Given the description of an element on the screen output the (x, y) to click on. 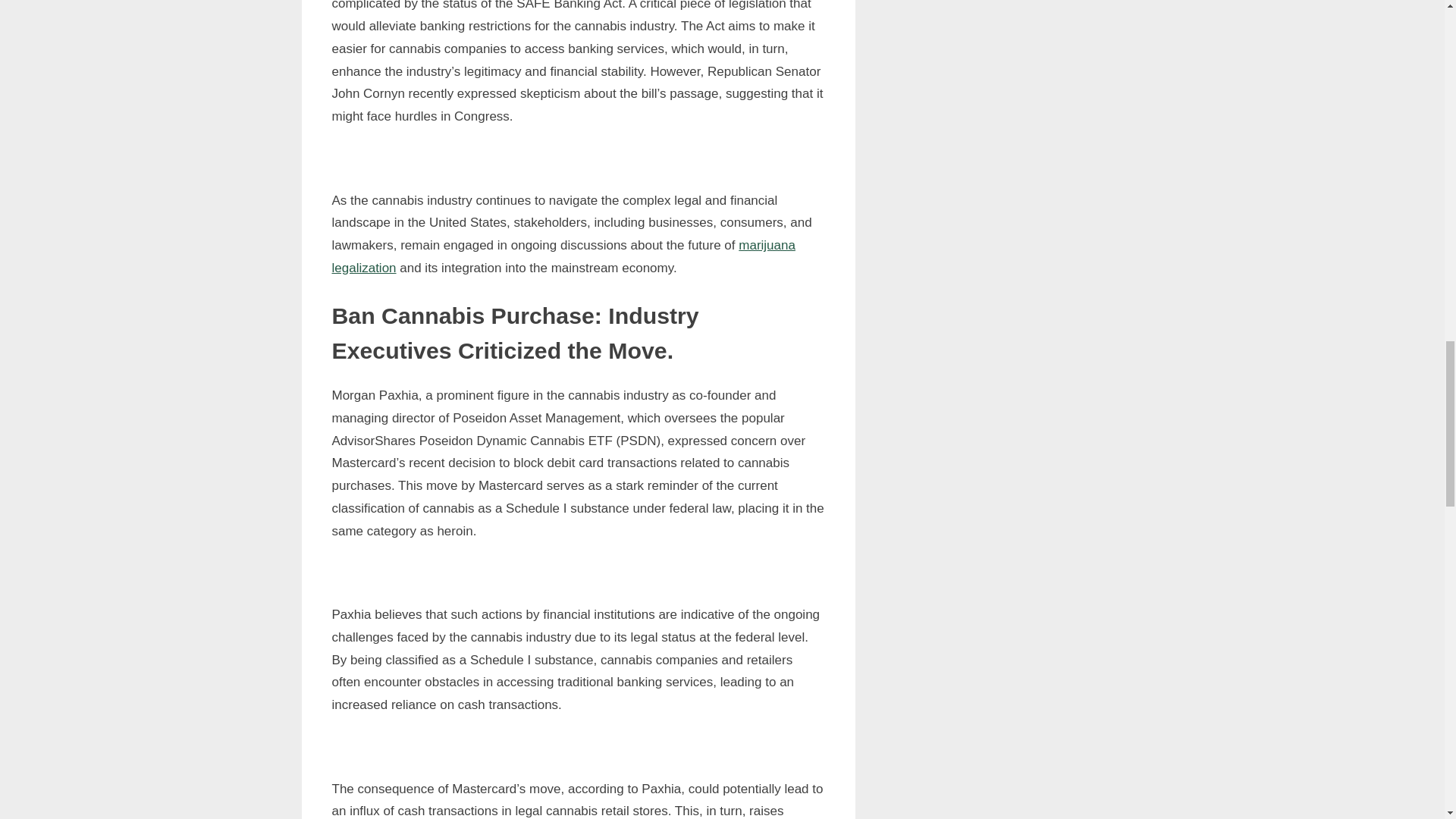
marijuana legalization (562, 256)
